Given the description of an element on the screen output the (x, y) to click on. 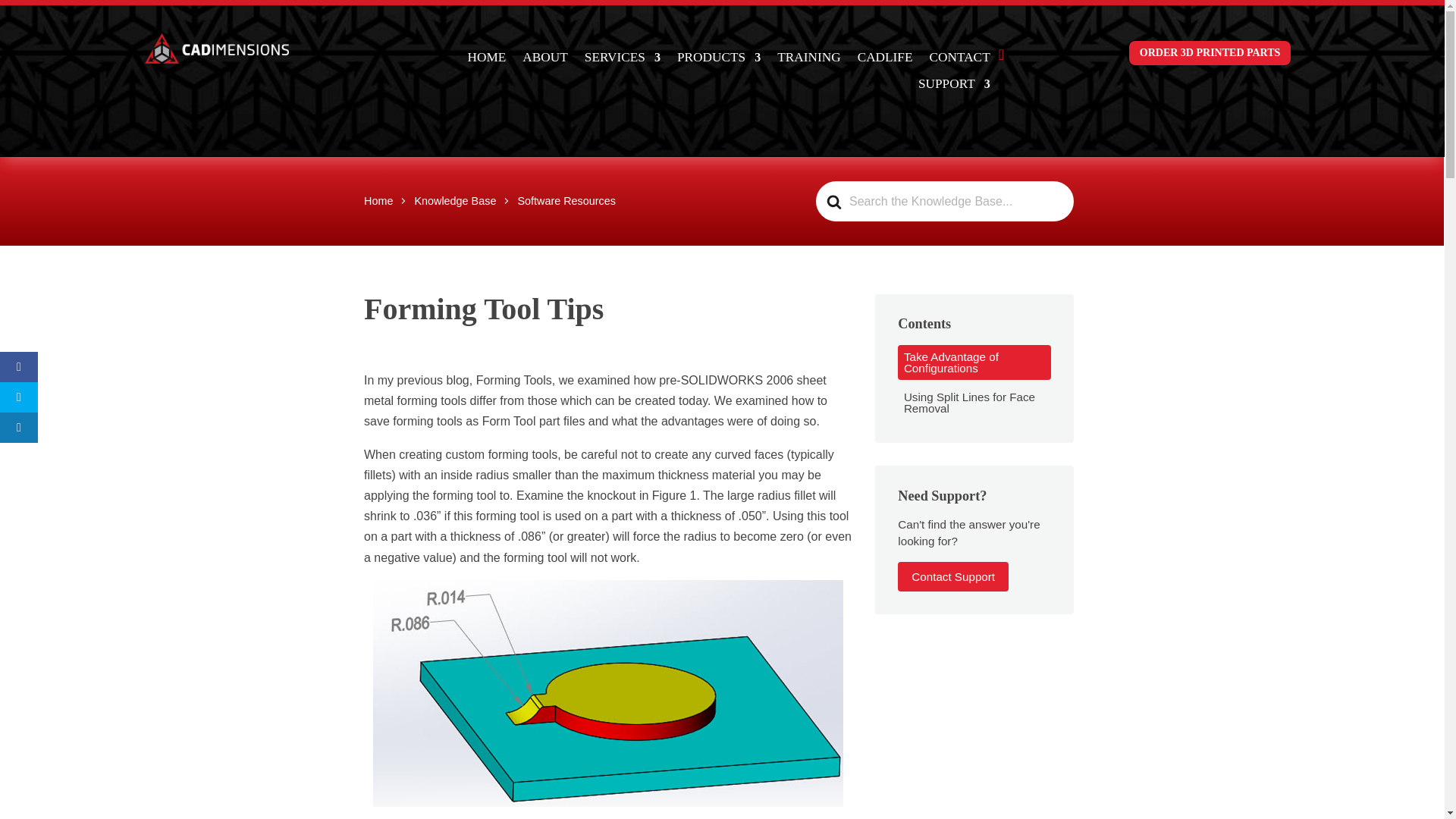
ABOUT (544, 59)
HOME (486, 59)
SUPPORT (954, 86)
ORDER 3D PRINTED PARTS (1210, 52)
PRODUCTS (718, 59)
cadimensions-logo (216, 48)
TRAINING (808, 59)
Knowledge Base (454, 200)
CADLIFE (884, 59)
CONTACT (960, 59)
SERVICES (623, 59)
Home (378, 200)
